Given the description of an element on the screen output the (x, y) to click on. 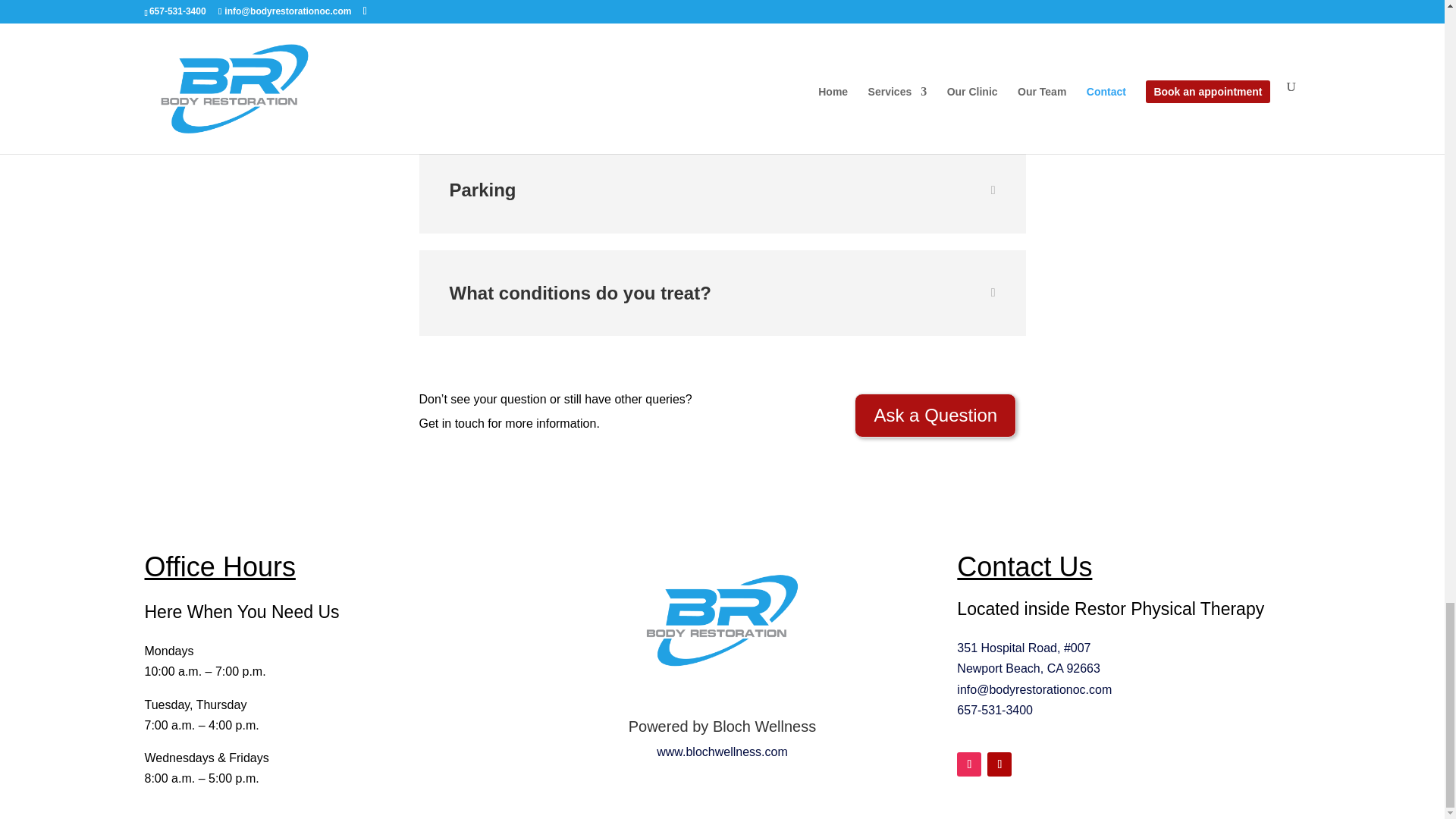
Body-Restoration (721, 620)
Ask a Question (935, 414)
Follow on Instagram (968, 764)
Follow on Yelp (999, 764)
